Given the description of an element on the screen output the (x, y) to click on. 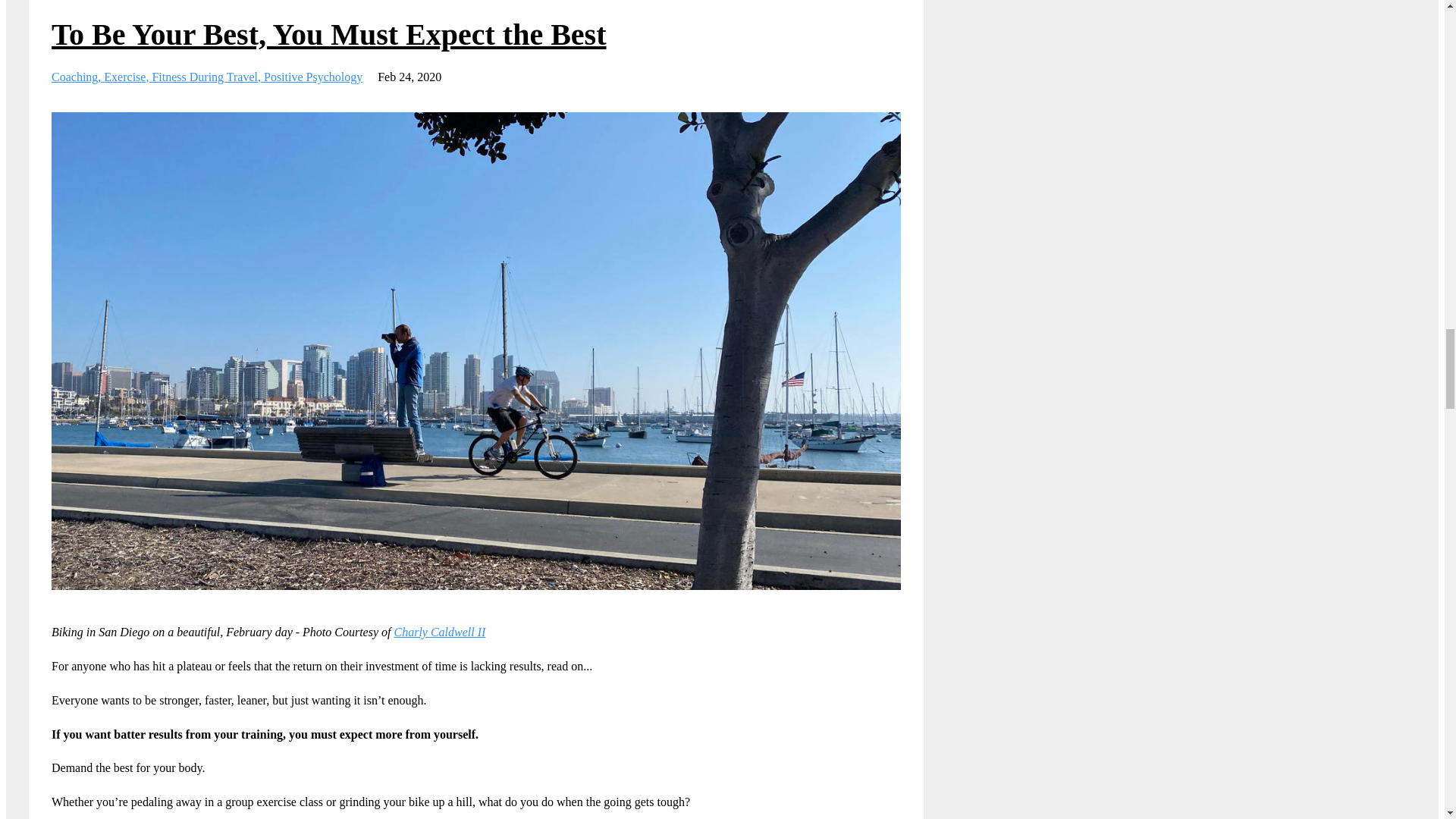
Fitness During Travel (207, 76)
Positive Psychology (312, 76)
Charly Caldwell II (440, 631)
Coaching (76, 76)
To Be Your Best, You Must Expect the Best (328, 34)
Exercise (127, 76)
